Given the description of an element on the screen output the (x, y) to click on. 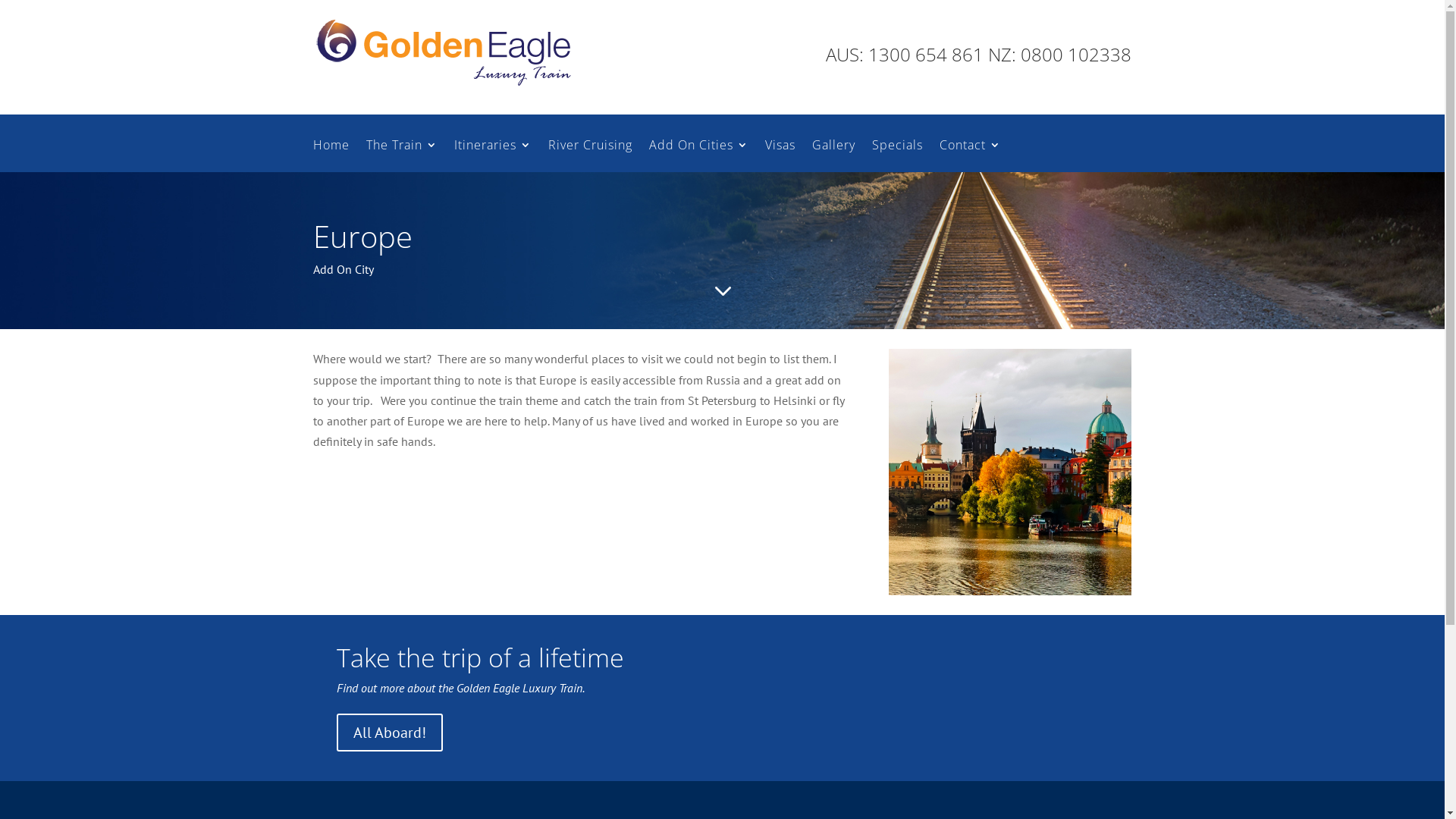
Specials Element type: text (897, 155)
Gallery Element type: text (832, 155)
All Aboard! Element type: text (389, 732)
Contact Element type: text (969, 155)
Home Element type: text (330, 155)
The Train Element type: text (400, 155)
Visas Element type: text (779, 155)
3 Element type: text (722, 291)
River Cruising Element type: text (589, 155)
Itineraries Element type: text (491, 155)
Add On Cities Element type: text (698, 155)
